Given the description of an element on the screen output the (x, y) to click on. 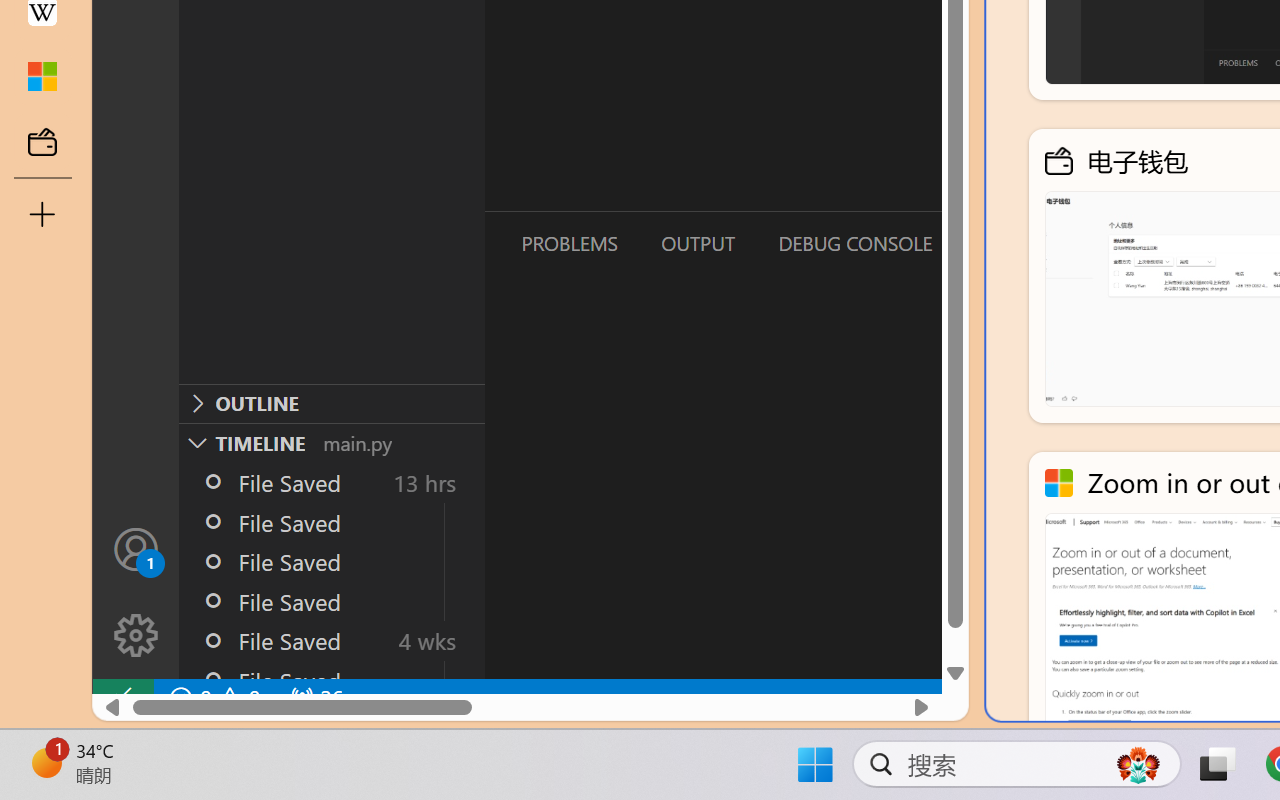
remote (122, 698)
Accounts - Sign in requested (135, 548)
Timeline Section (331, 442)
Terminal (Ctrl+`) (1021, 243)
Output (Ctrl+Shift+U) (696, 243)
Manage (135, 591)
Problems (Ctrl+Shift+M) (567, 243)
